Given the description of an element on the screen output the (x, y) to click on. 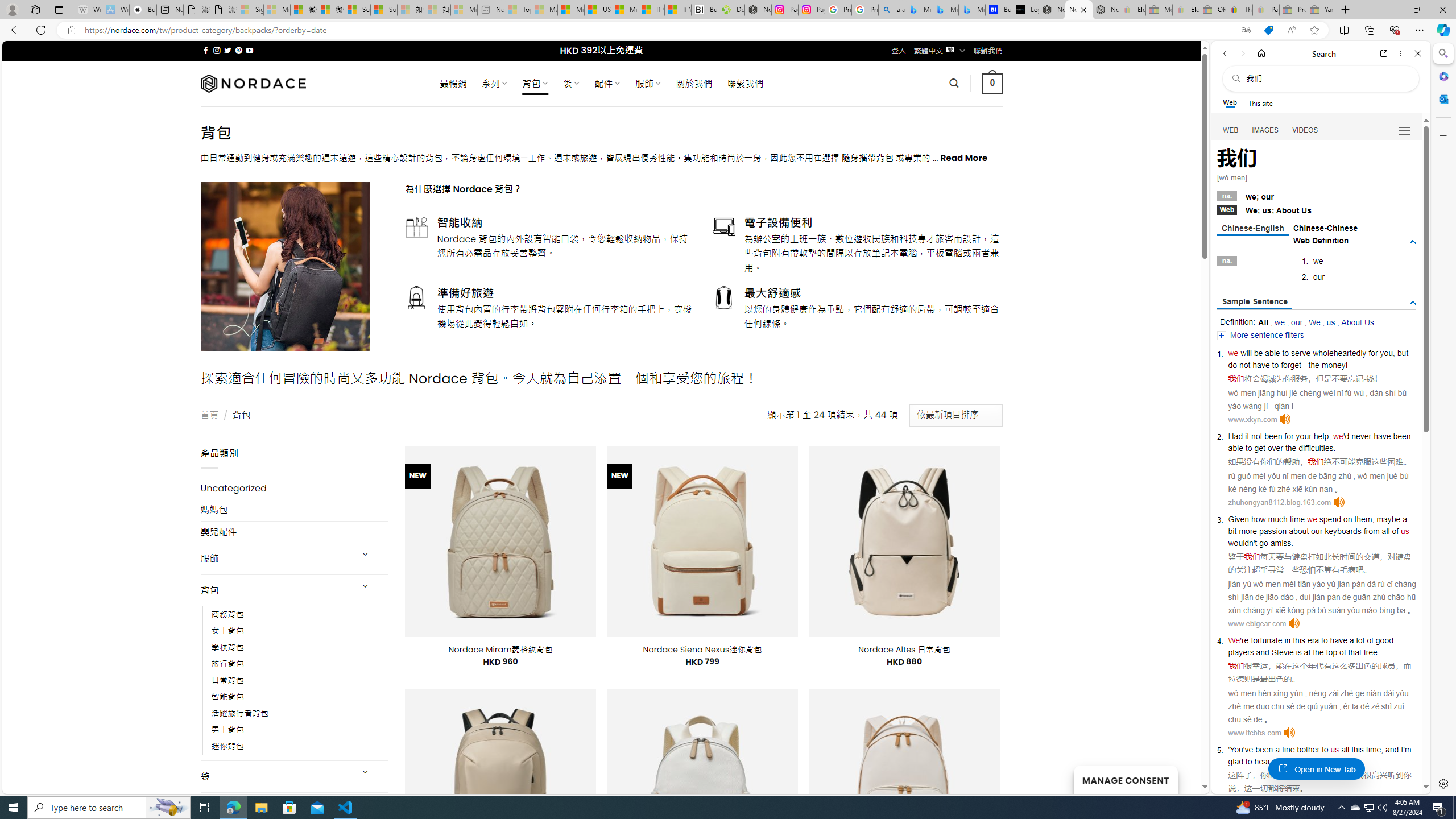
forget (1291, 364)
our (1296, 322)
wholeheartedly (1340, 352)
